Given the description of an element on the screen output the (x, y) to click on. 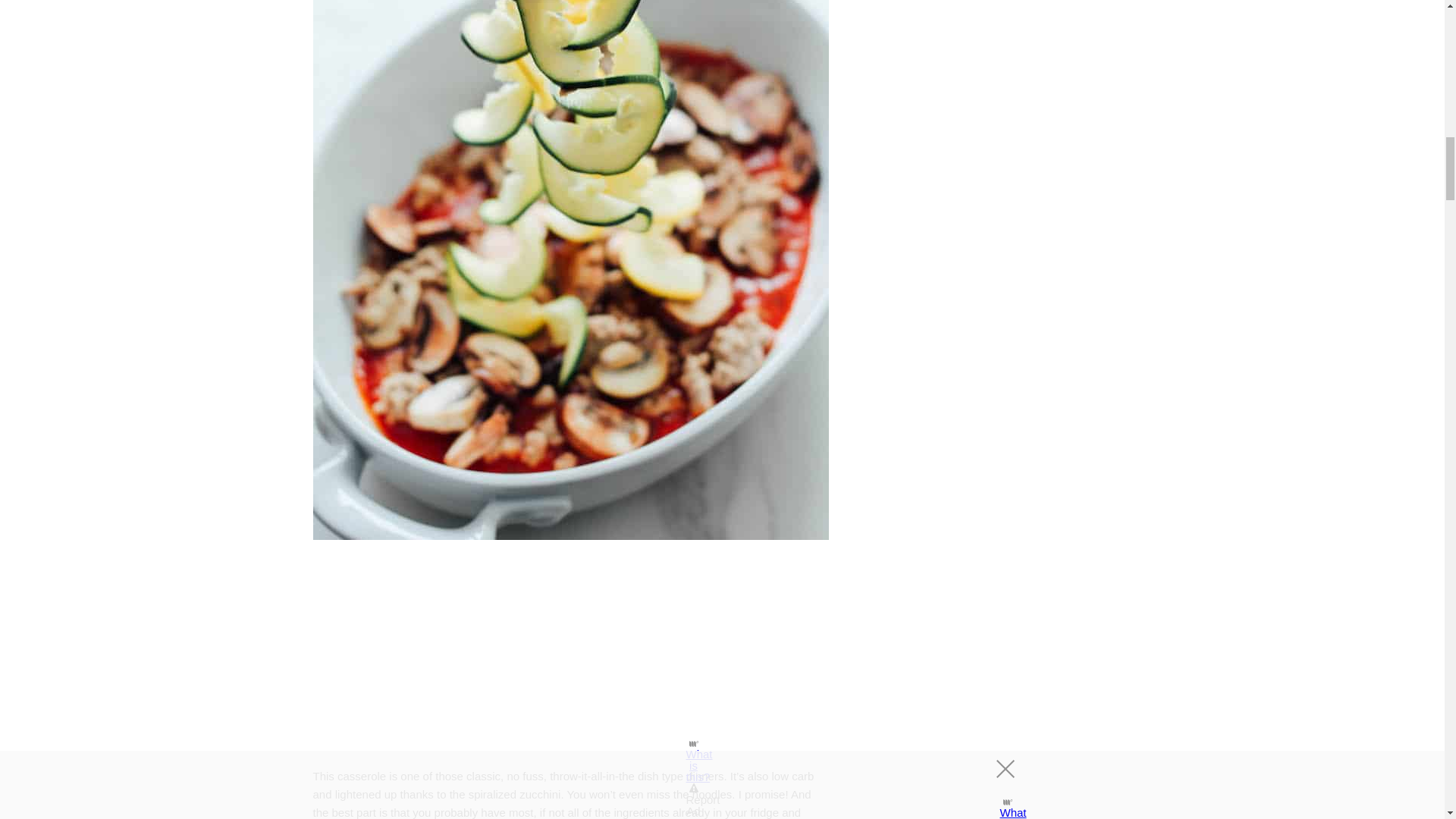
3rd party ad content (570, 657)
